Given the description of an element on the screen output the (x, y) to click on. 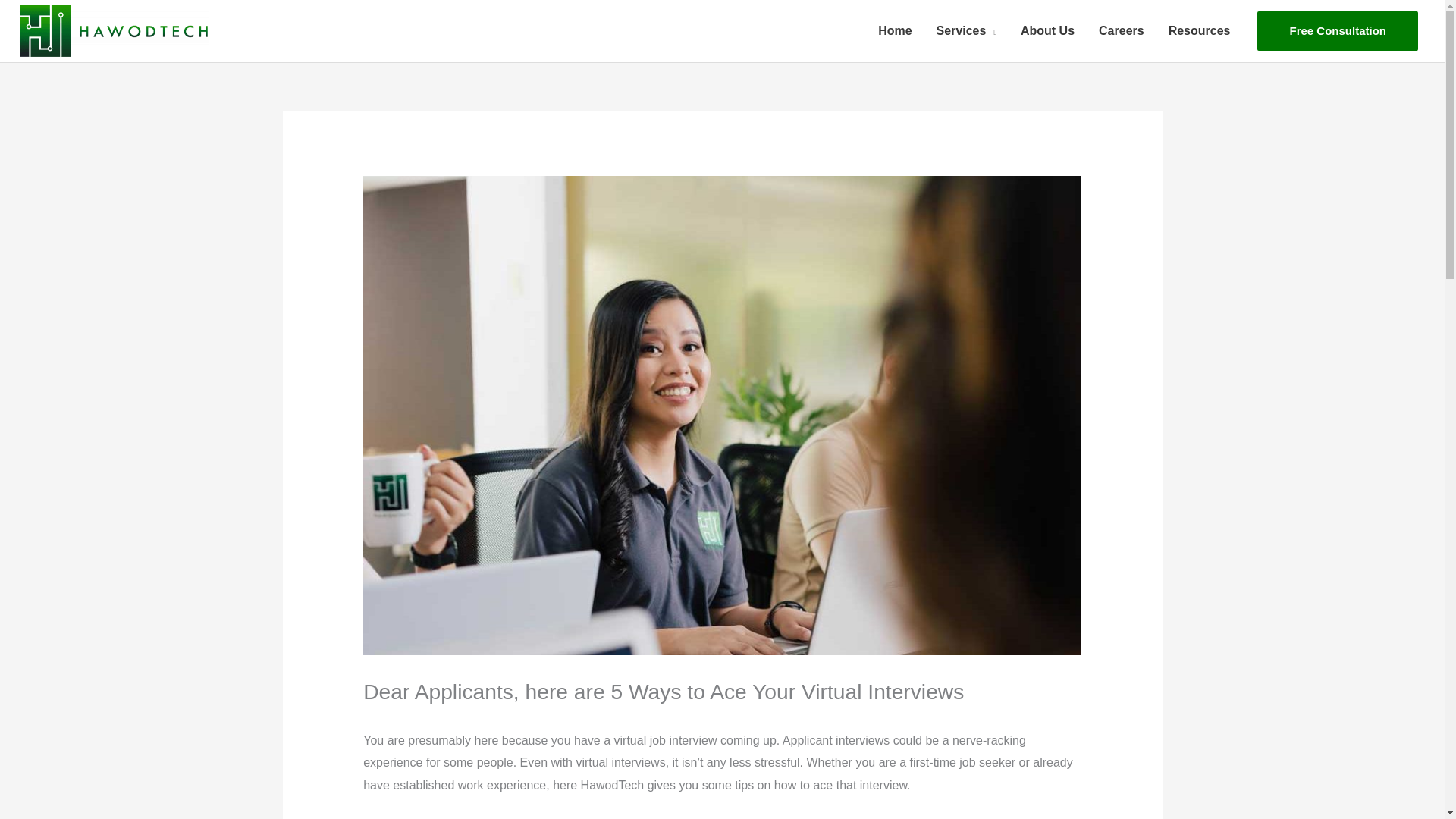
Services (966, 30)
Careers (1121, 30)
Free Consultation (1337, 30)
About Us (1047, 30)
Home (894, 30)
Resources (1199, 30)
